Given the description of an element on the screen output the (x, y) to click on. 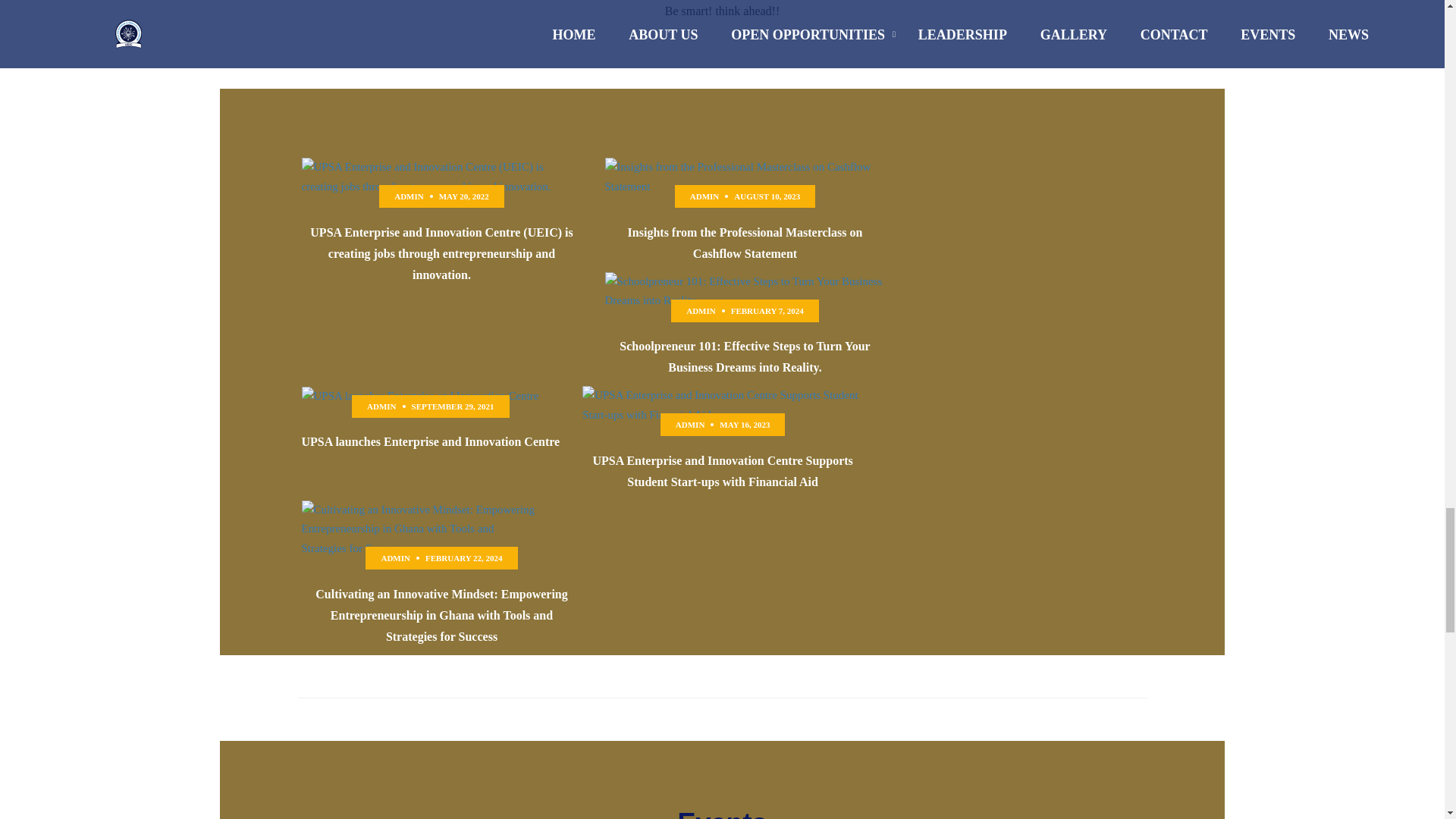
UPSA launches Enterprise and Innovation Centre (430, 440)
ueic slide 1 (419, 396)
new (441, 177)
